Given the description of an element on the screen output the (x, y) to click on. 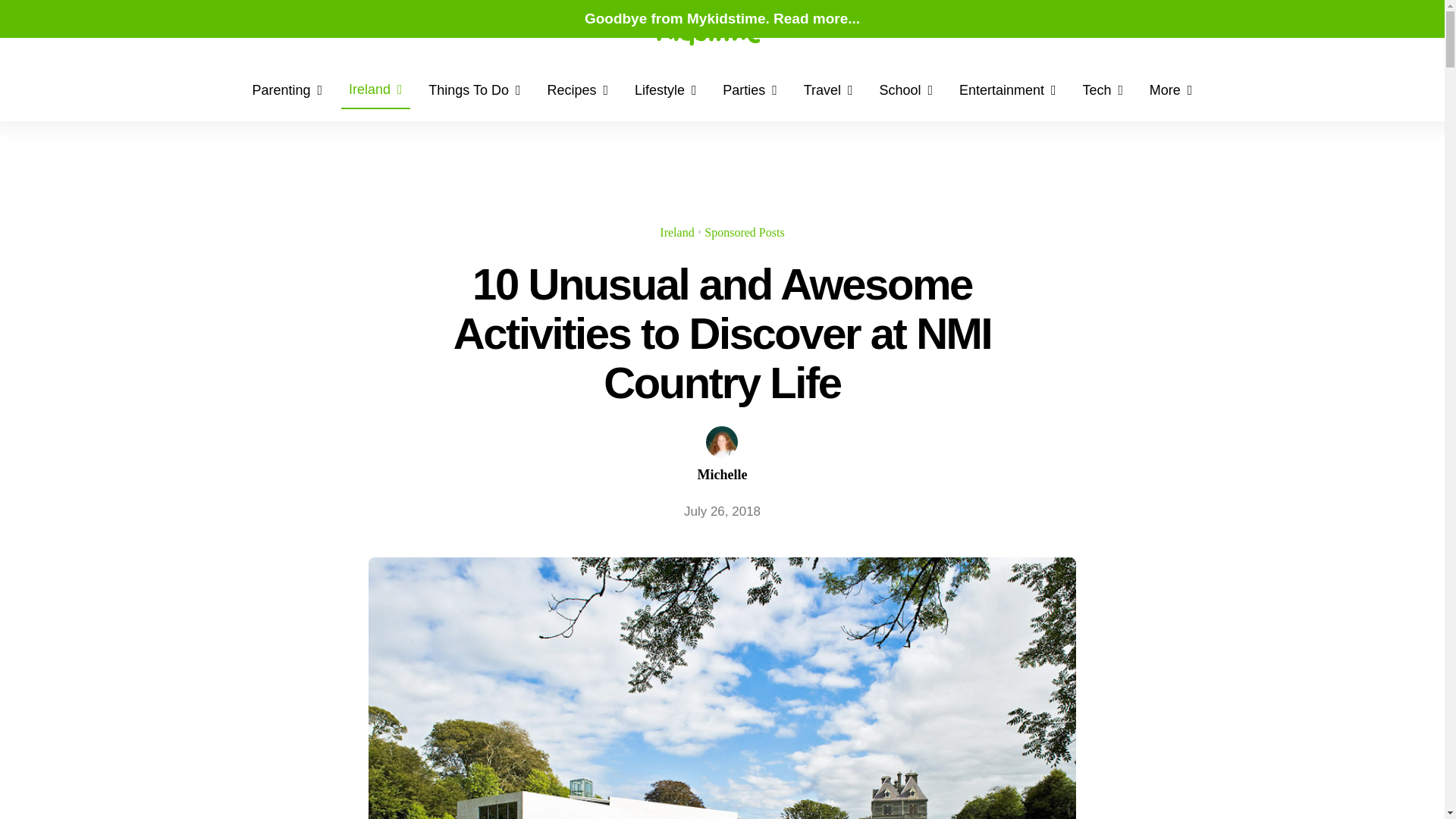
Sponsored Posts (744, 232)
Ireland (676, 232)
Connect with parents (312, 30)
Read more... (816, 18)
Ireland (375, 90)
Contact Us (400, 30)
Parenting (287, 90)
Search (243, 30)
